Given the description of an element on the screen output the (x, y) to click on. 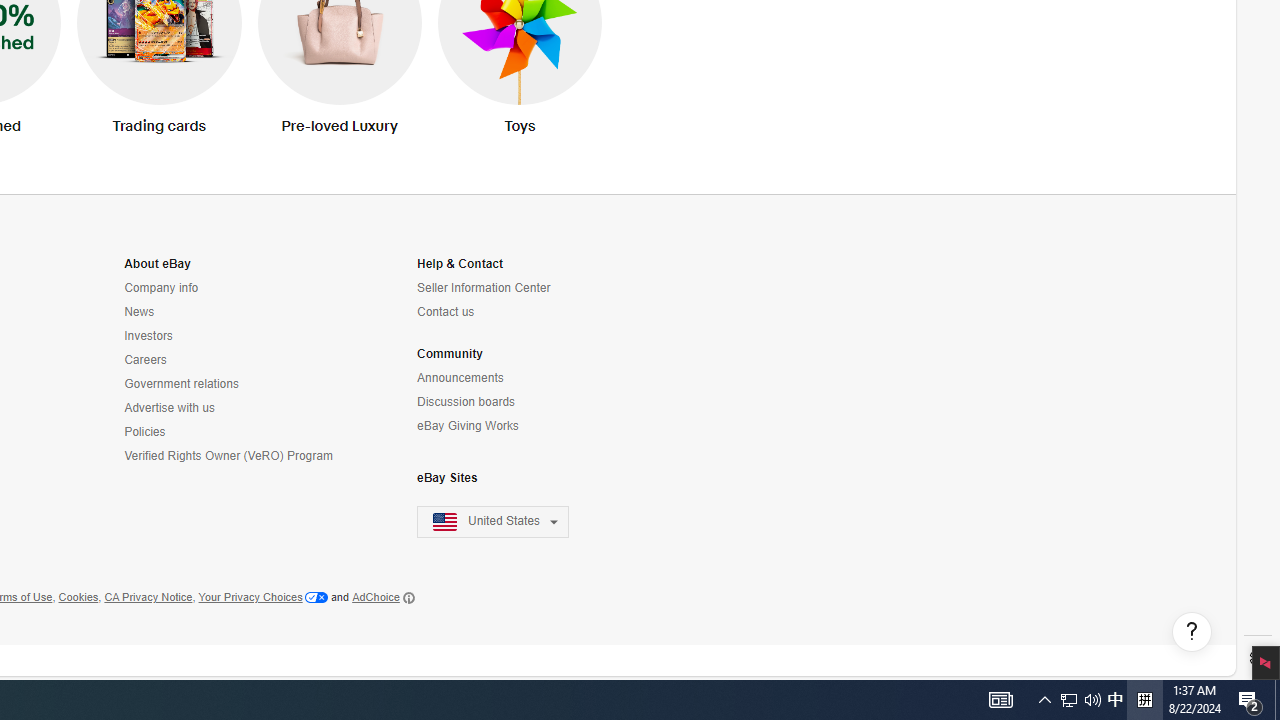
Investors (230, 335)
Company info (230, 288)
Seller Information Center (483, 288)
Government relations (230, 384)
Help, opens dialogs (1191, 632)
Announcements (460, 378)
Policies (230, 432)
AdChoice (383, 597)
Help & Contact (460, 263)
Advertise with us (169, 407)
Announcements (505, 378)
Contact us (445, 312)
eBay Giving Works (505, 425)
